Given the description of an element on the screen output the (x, y) to click on. 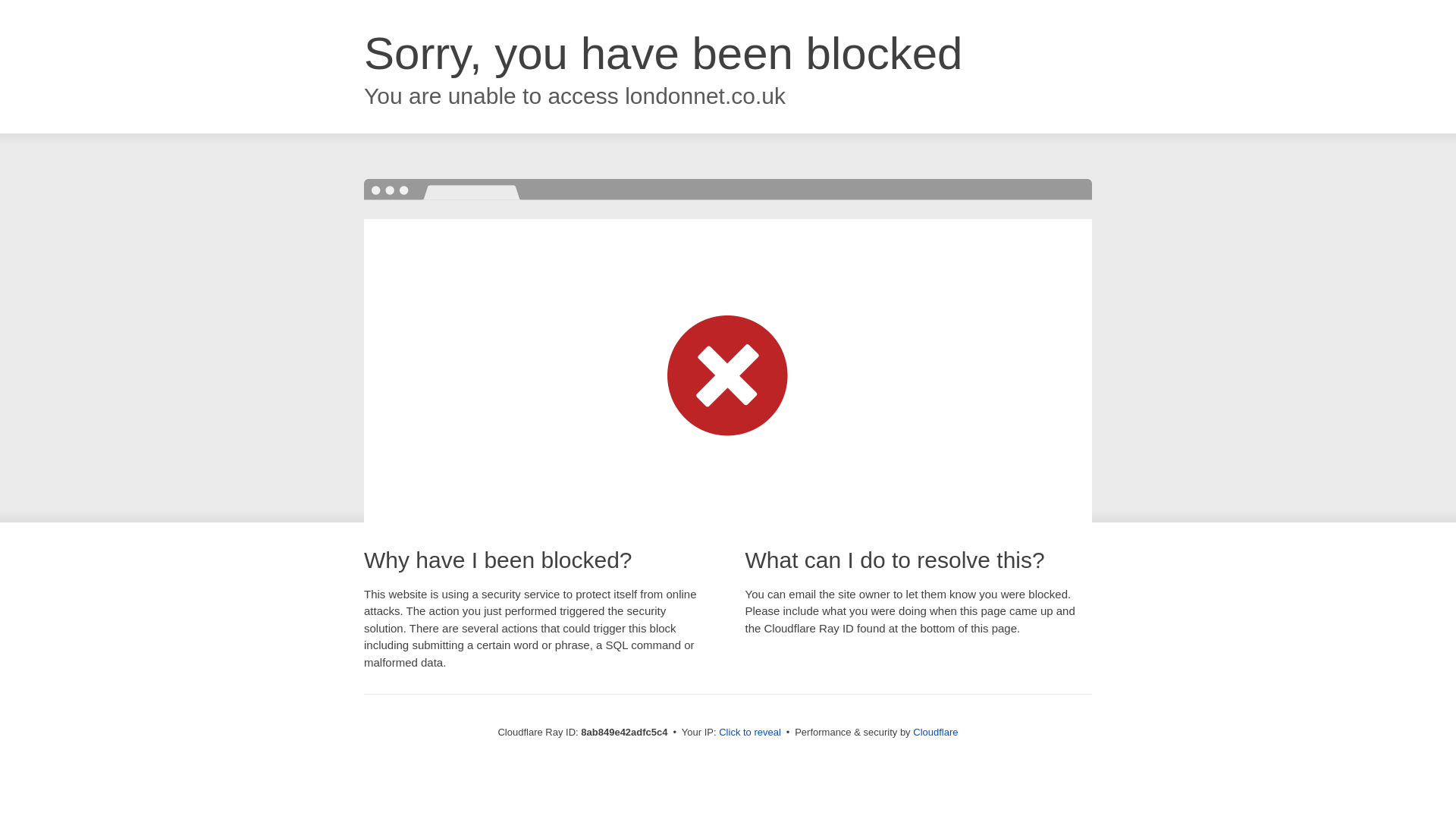
Click to reveal (749, 732)
Cloudflare (935, 731)
